Given the description of an element on the screen output the (x, y) to click on. 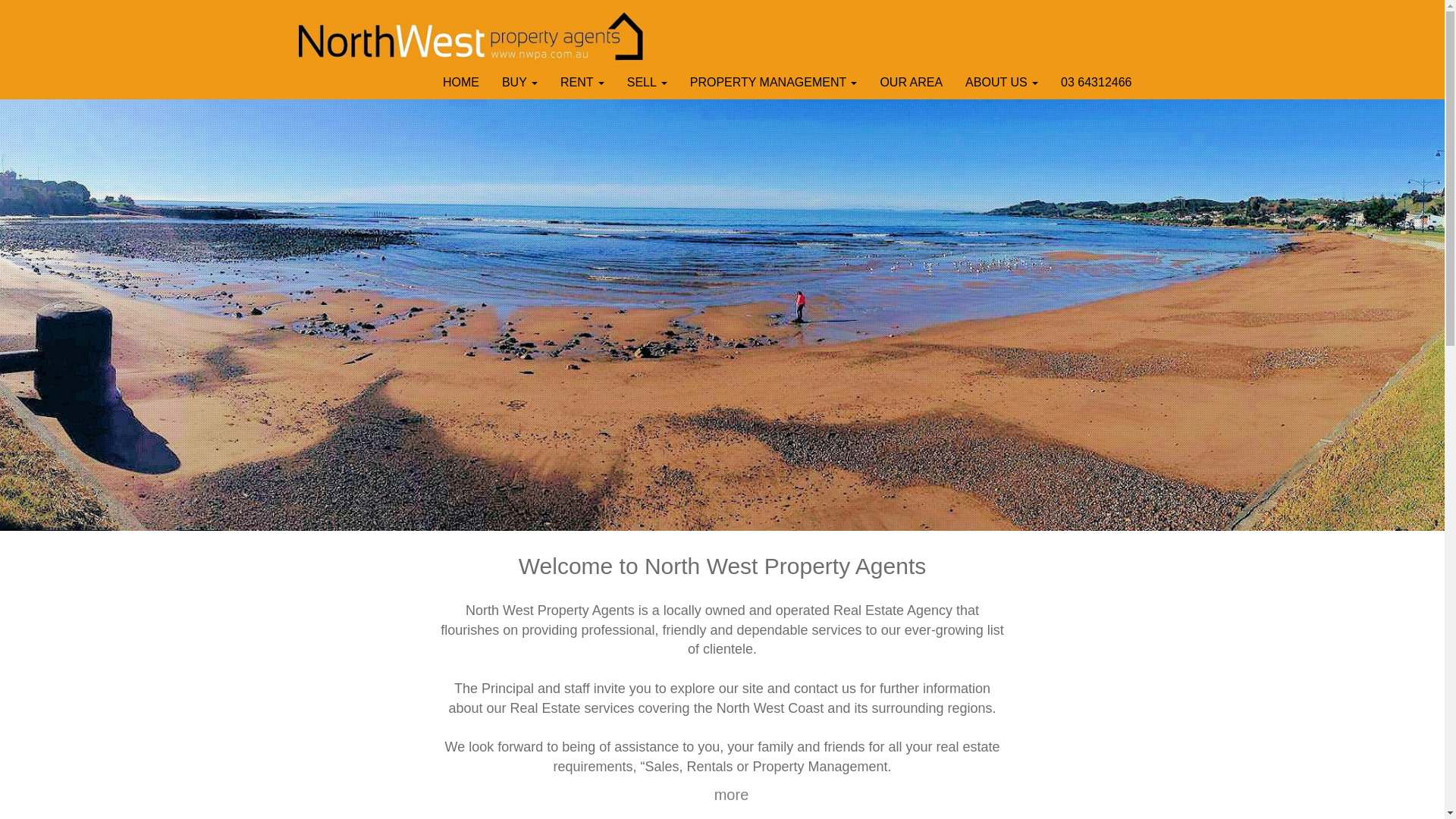
more Element type: text (731, 794)
PROPERTY MANAGEMENT Element type: text (773, 82)
ABOUT US Element type: text (1001, 82)
SELL Element type: text (646, 82)
OUR AREA Element type: text (910, 82)
HOME Element type: text (460, 82)
BUY Element type: text (519, 82)
03 64312466 Element type: text (1095, 82)
RENT Element type: text (582, 82)
